Given the description of an element on the screen output the (x, y) to click on. 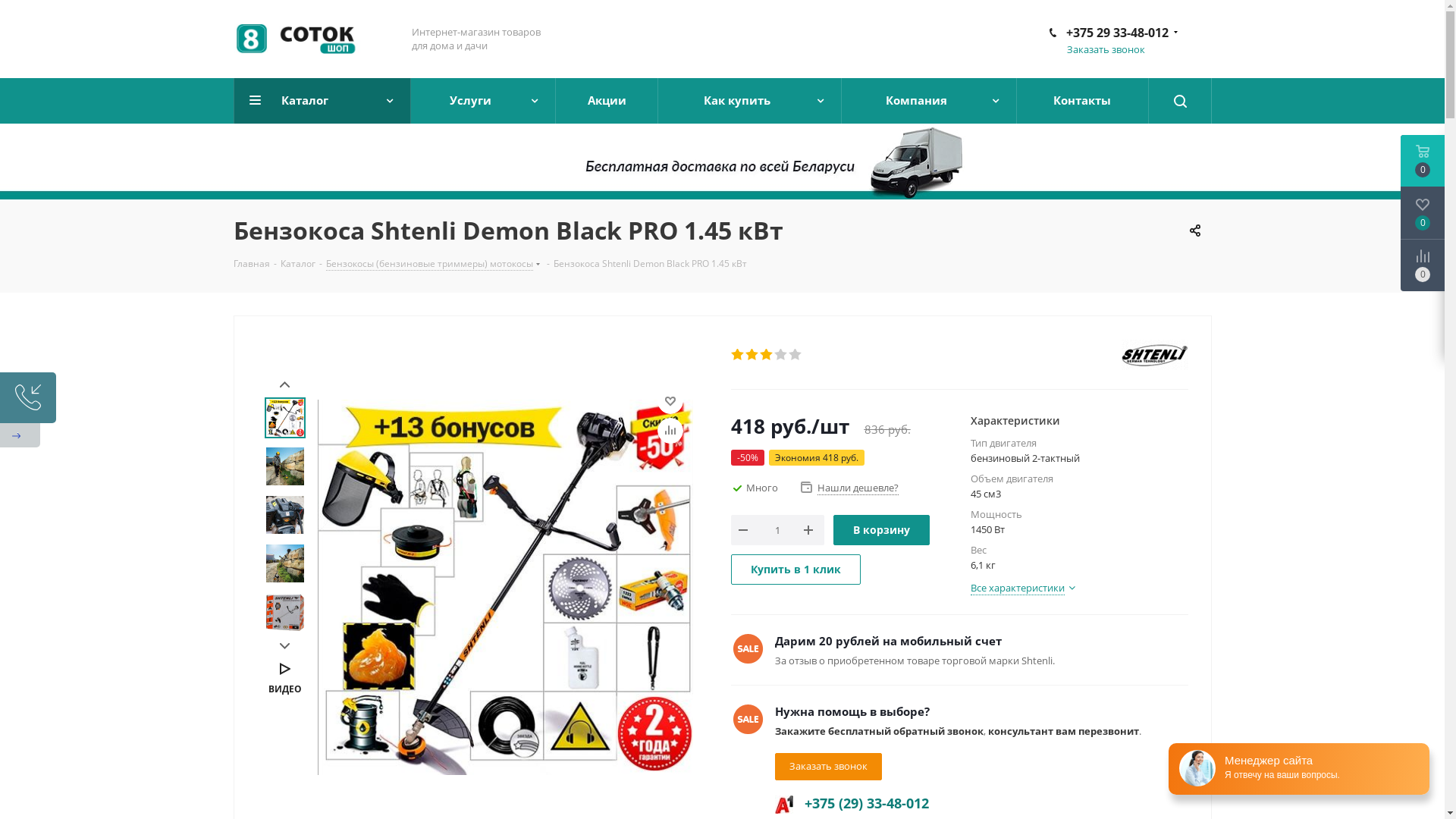
A1 Element type: hover (784, 804)
+375 (29) 33-48-012 Element type: text (865, 802)
Prev Element type: text (284, 384)
3 Element type: hover (766, 354)
4 Element type: hover (780, 354)
5 Element type: hover (795, 354)
2 Element type: hover (751, 354)
1 Element type: hover (738, 354)
Next Element type: text (284, 646)
+375 29 33-48-012 Element type: text (1117, 32)
